Given the description of an element on the screen output the (x, y) to click on. 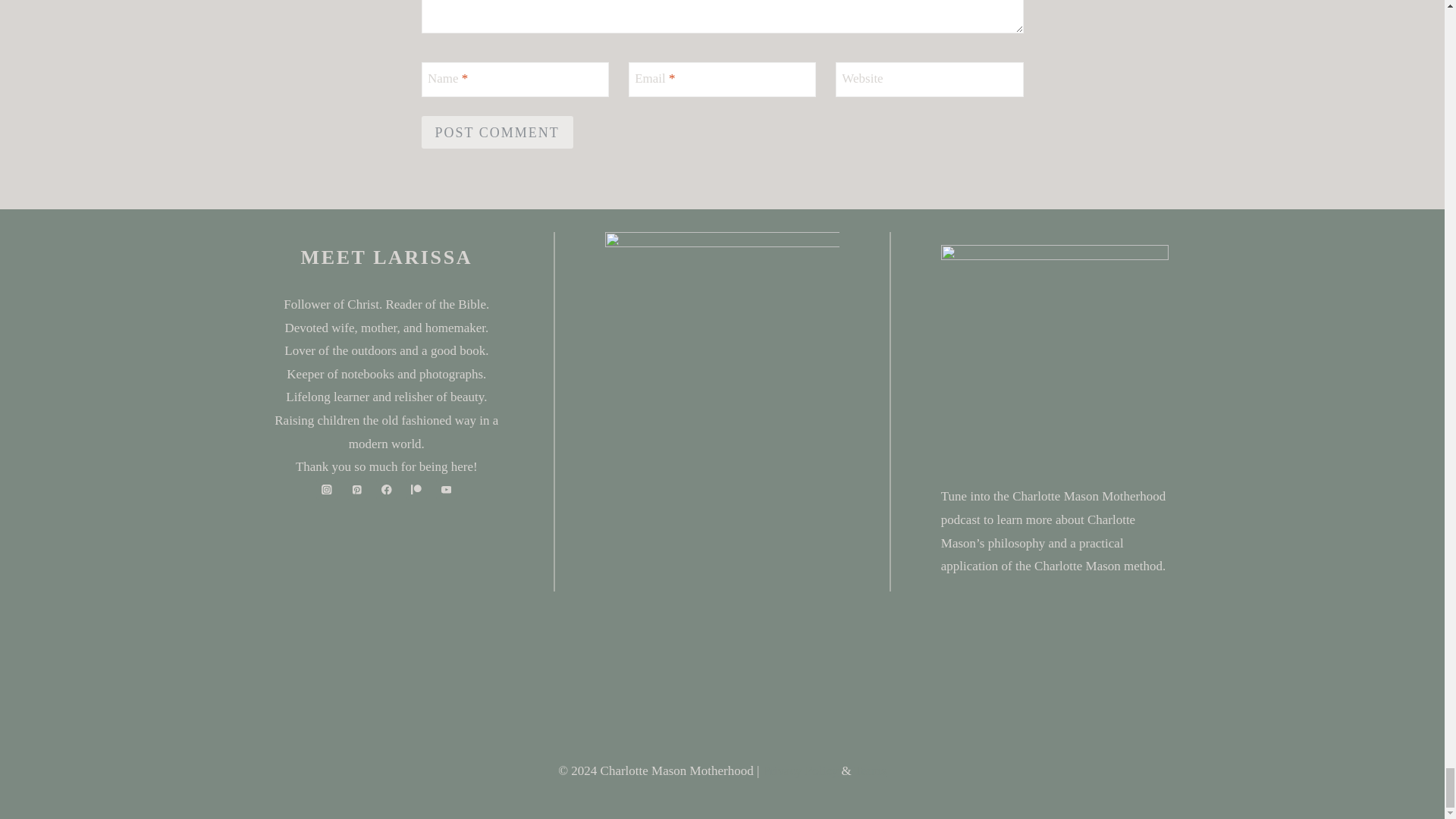
Post Comment (497, 132)
